Given the description of an element on the screen output the (x, y) to click on. 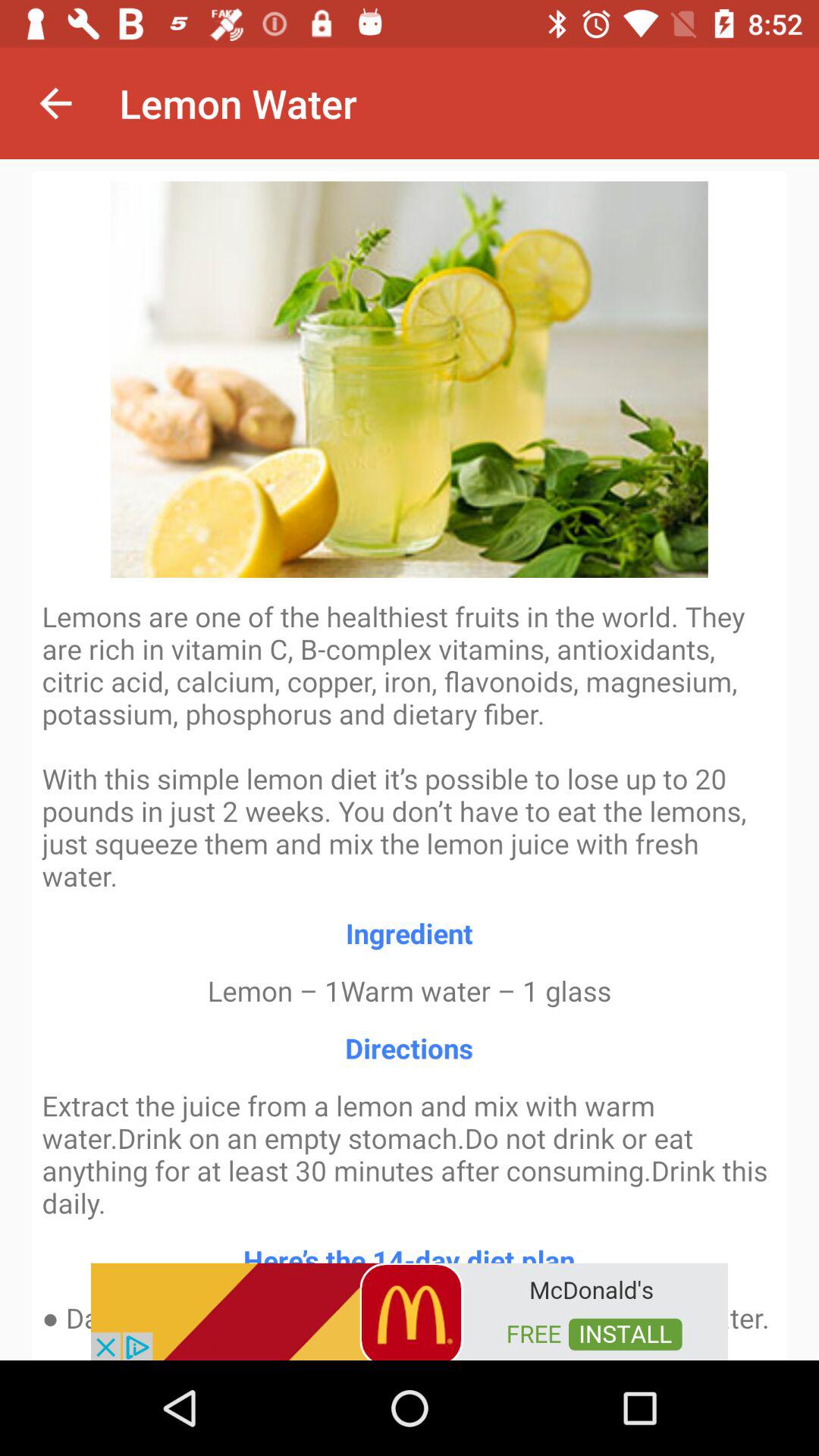
open the item below extract the juice item (409, 1310)
